Given the description of an element on the screen output the (x, y) to click on. 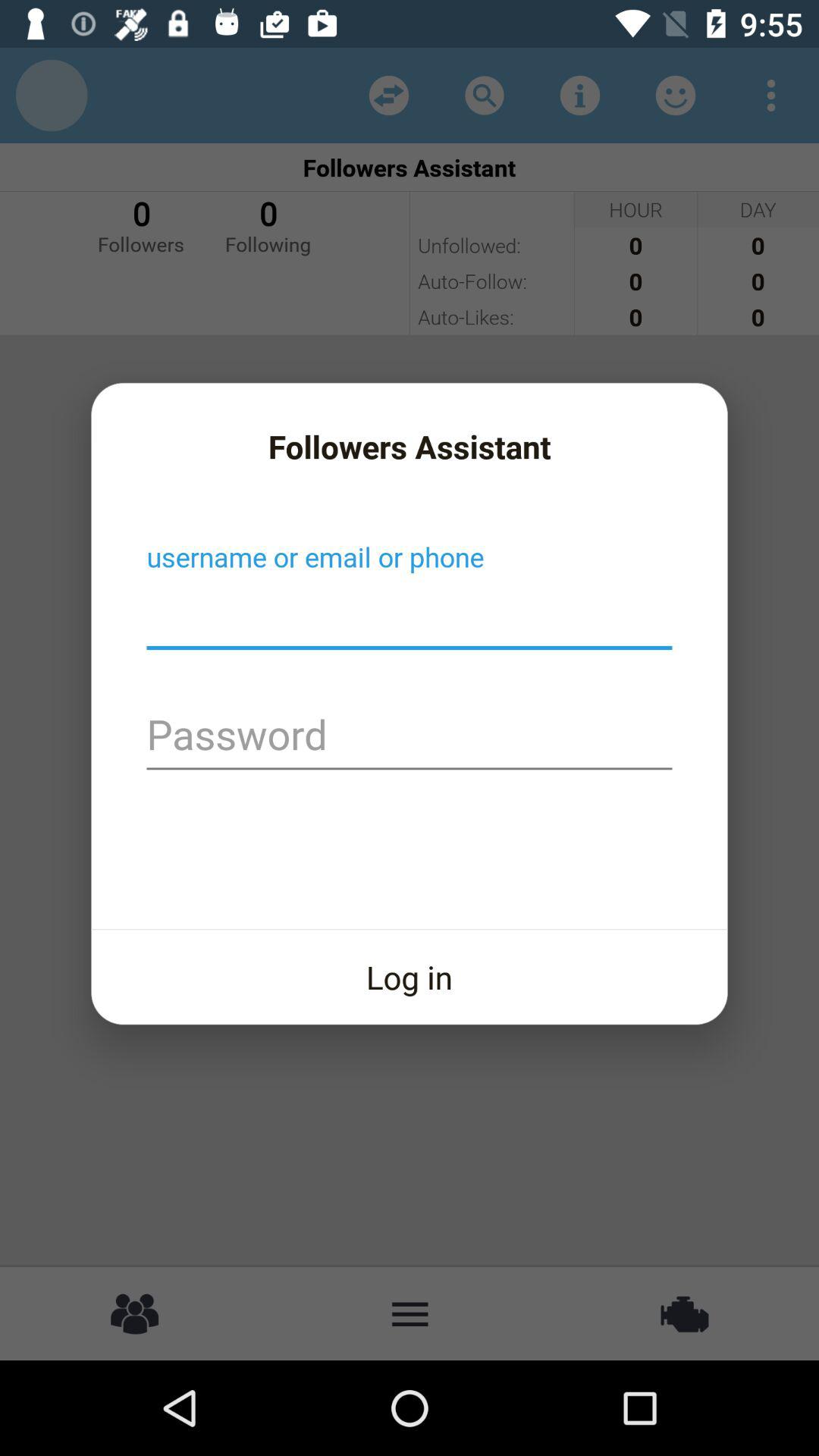
creat username (409, 615)
